Given the description of an element on the screen output the (x, y) to click on. 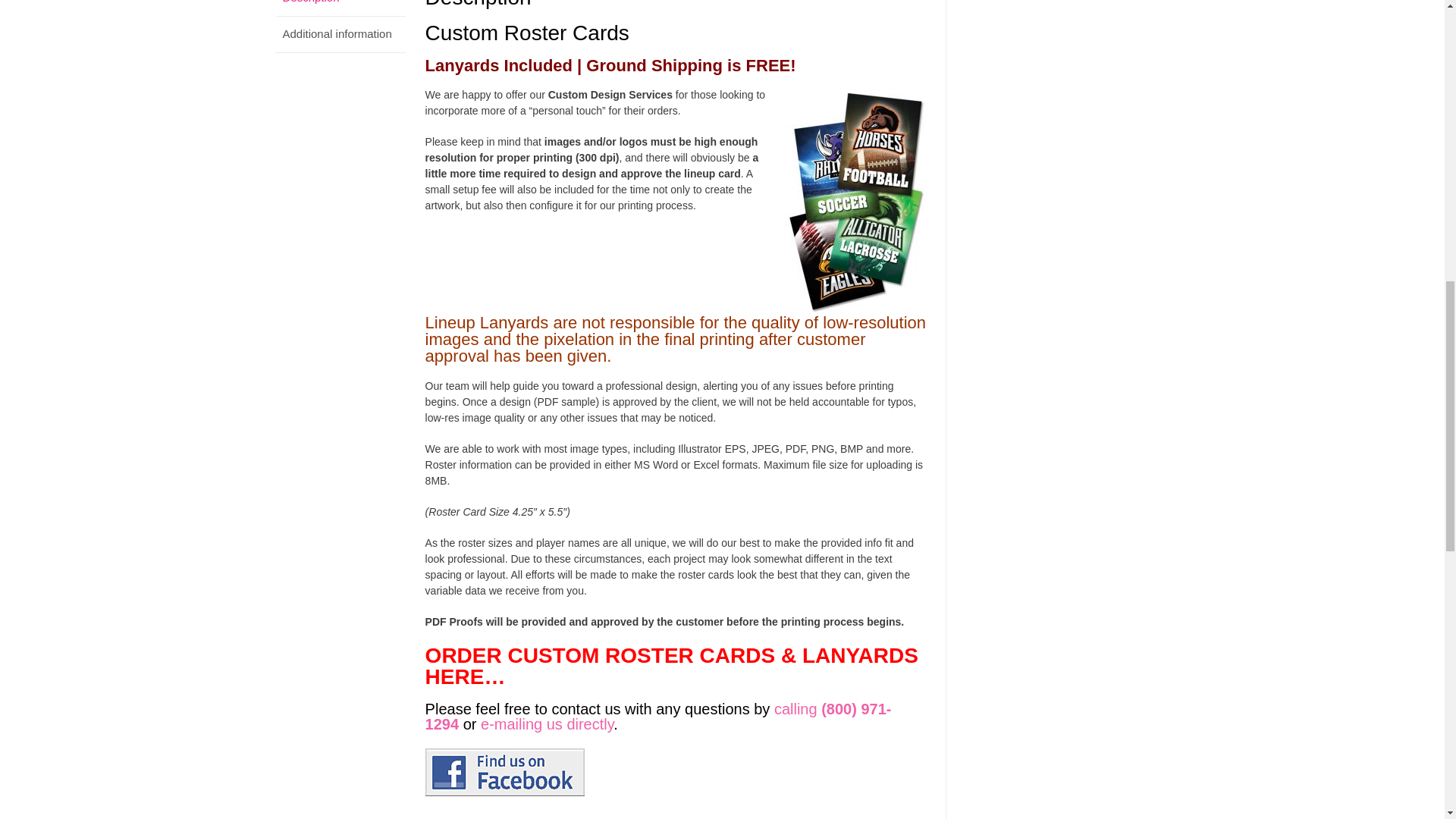
Description (339, 6)
e-mailing us directly (546, 723)
Additional information (339, 34)
